Given the description of an element on the screen output the (x, y) to click on. 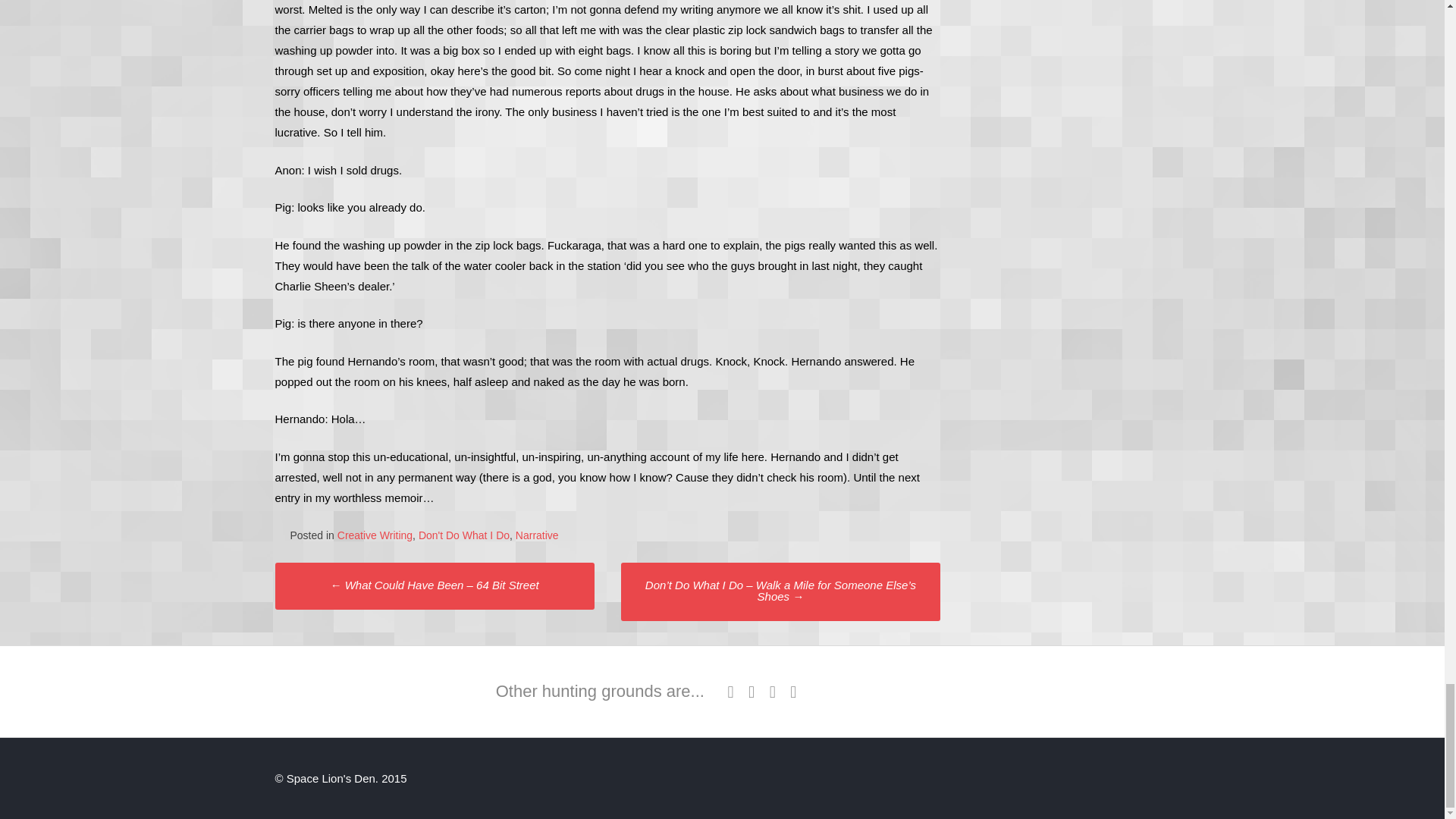
Creative Writing (374, 535)
Narrative (537, 535)
Don't Do What I Do (464, 535)
